Given the description of an element on the screen output the (x, y) to click on. 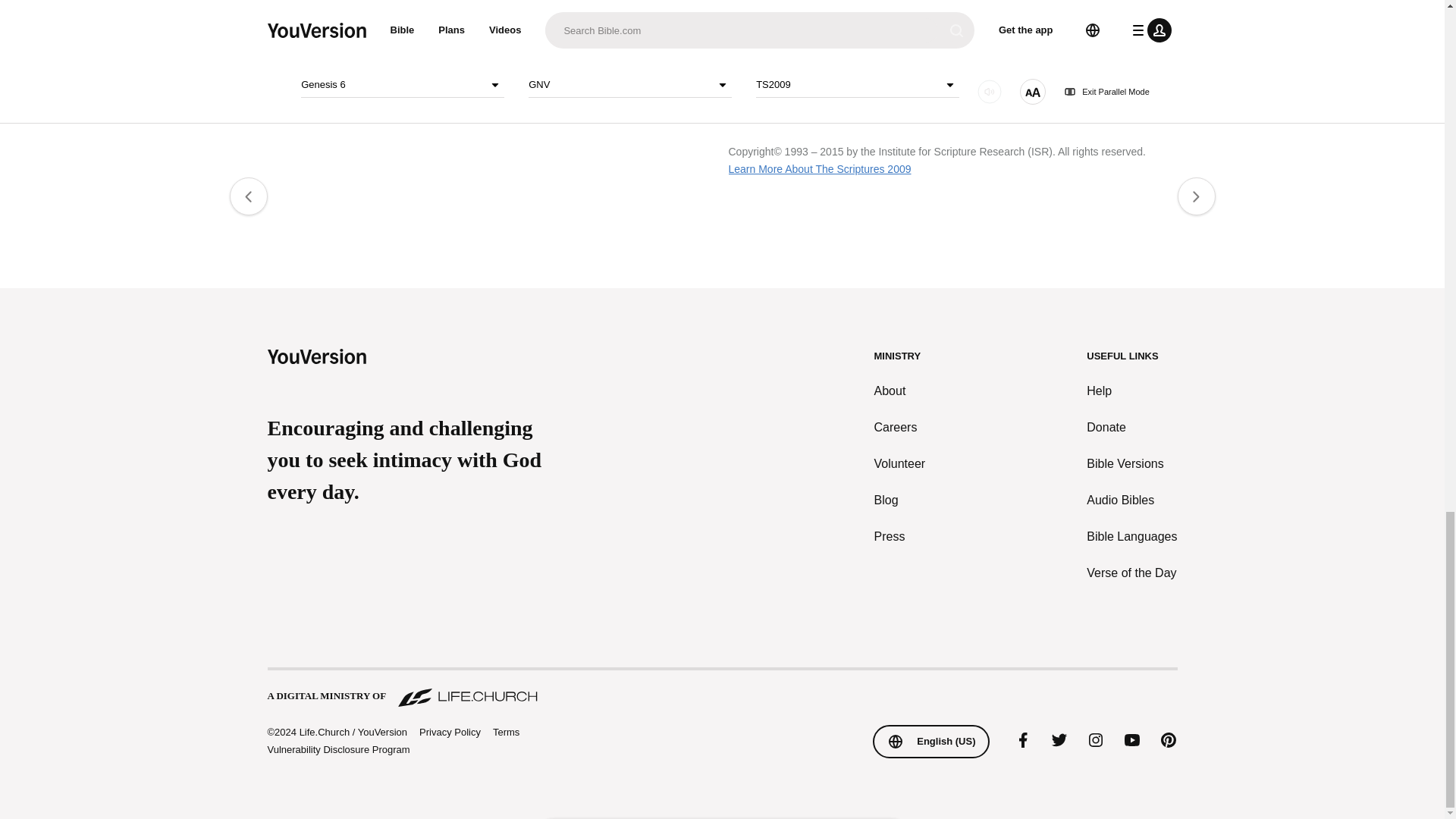
Learn More About The Scriptures 2009 (819, 168)
Audio Bibles (1131, 500)
About (900, 391)
Bible Versions (1131, 464)
Privacy Policy (449, 732)
Donate (1131, 427)
Terms (506, 731)
Vulnerability Disclosure Program (337, 749)
Careers (900, 427)
Bible Languages (1131, 536)
